Given the description of an element on the screen output the (x, y) to click on. 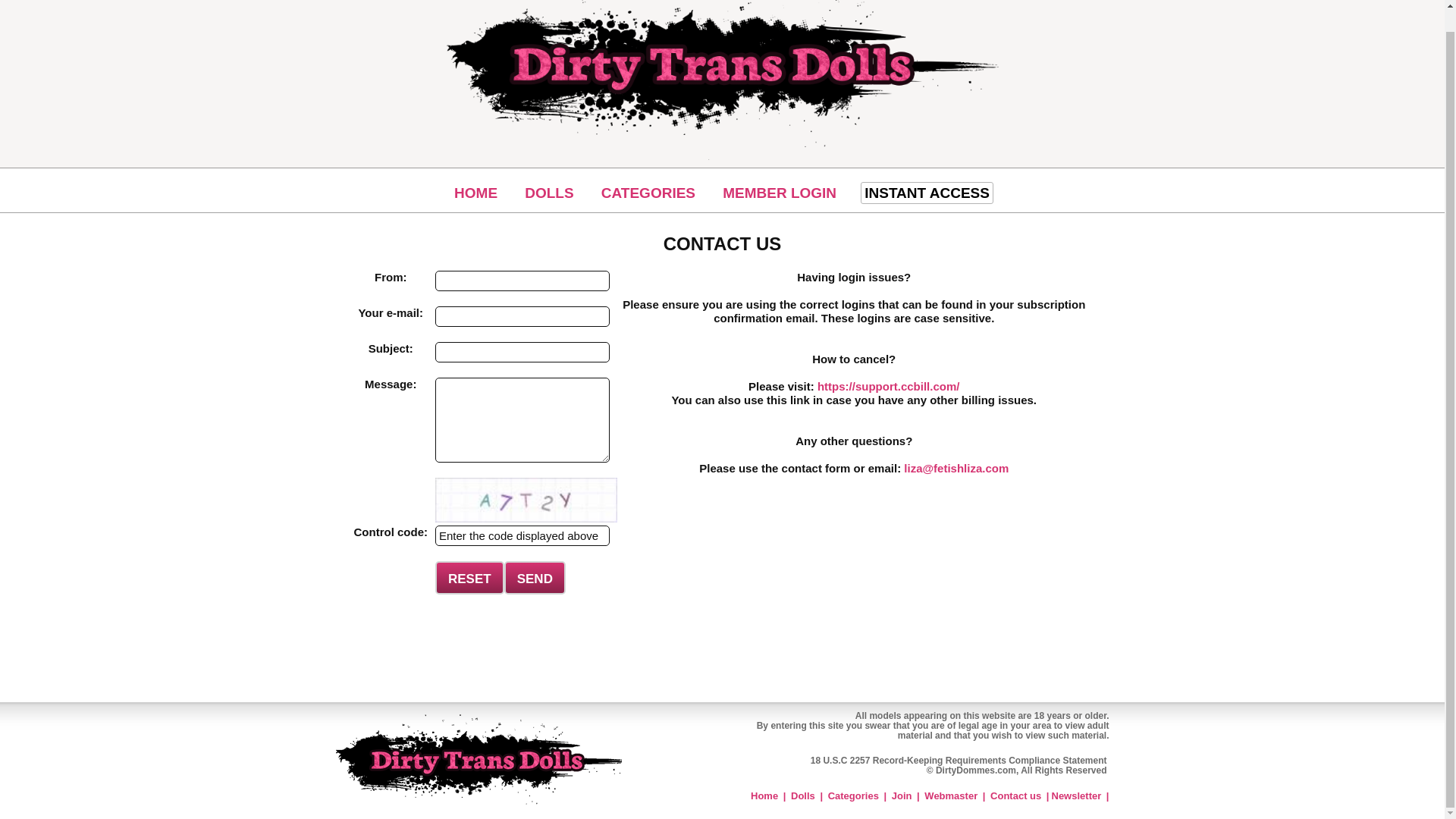
DOLLS (548, 192)
Newsletter (1075, 795)
CATEGORIES (648, 192)
Reset (469, 577)
Enter the code displayed above (522, 535)
Contact us (1015, 795)
MEMBER LOGIN (779, 192)
INSTANT ACCESS (926, 192)
Webmaster (950, 795)
Dolls (802, 795)
